Given the description of an element on the screen output the (x, y) to click on. 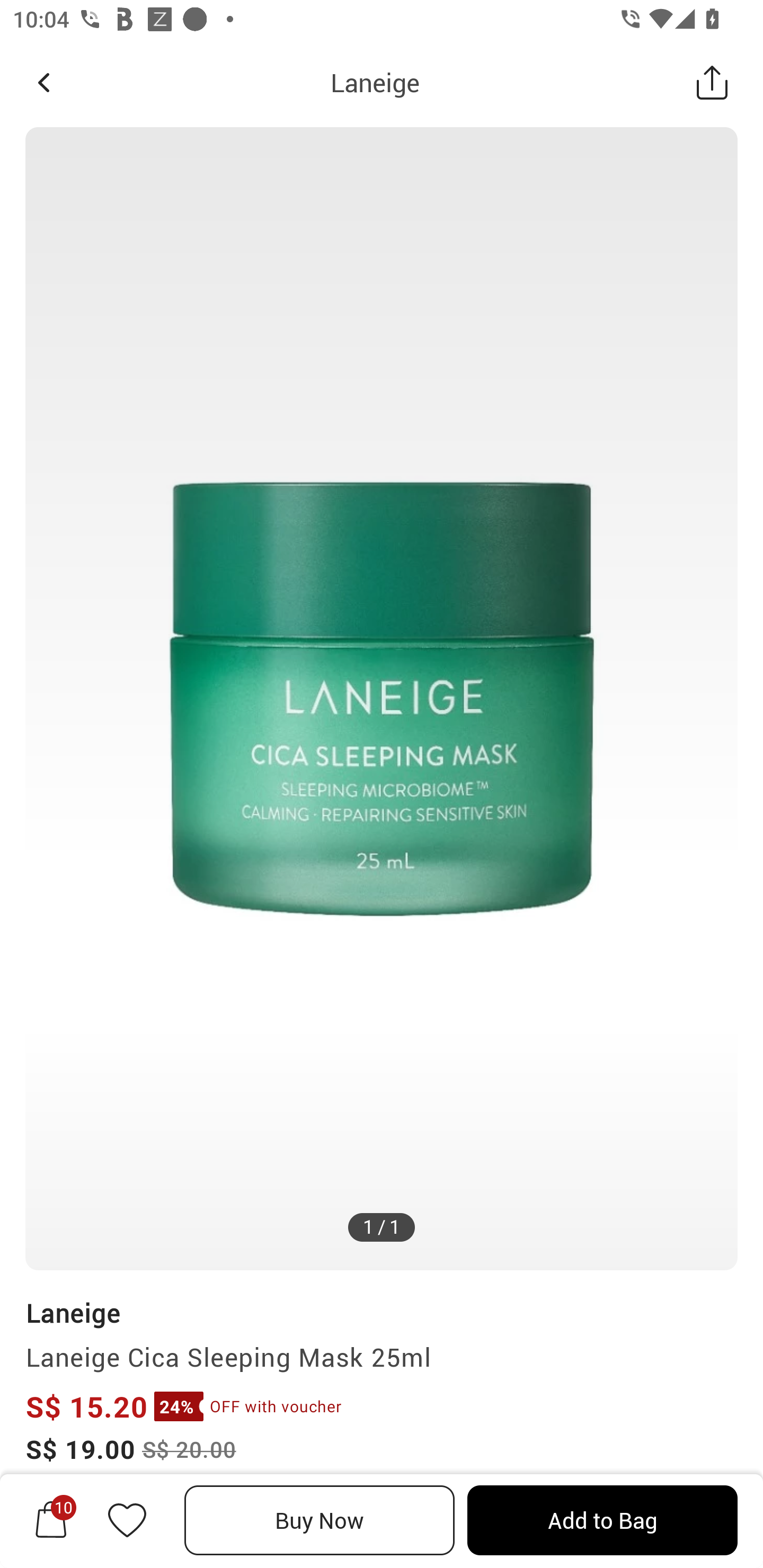
Laneige (375, 82)
Share this Product (711, 82)
Laneige (72, 1312)
Buy Now (319, 1519)
Add to Bag (601, 1519)
10 (50, 1520)
